Given the description of an element on the screen output the (x, y) to click on. 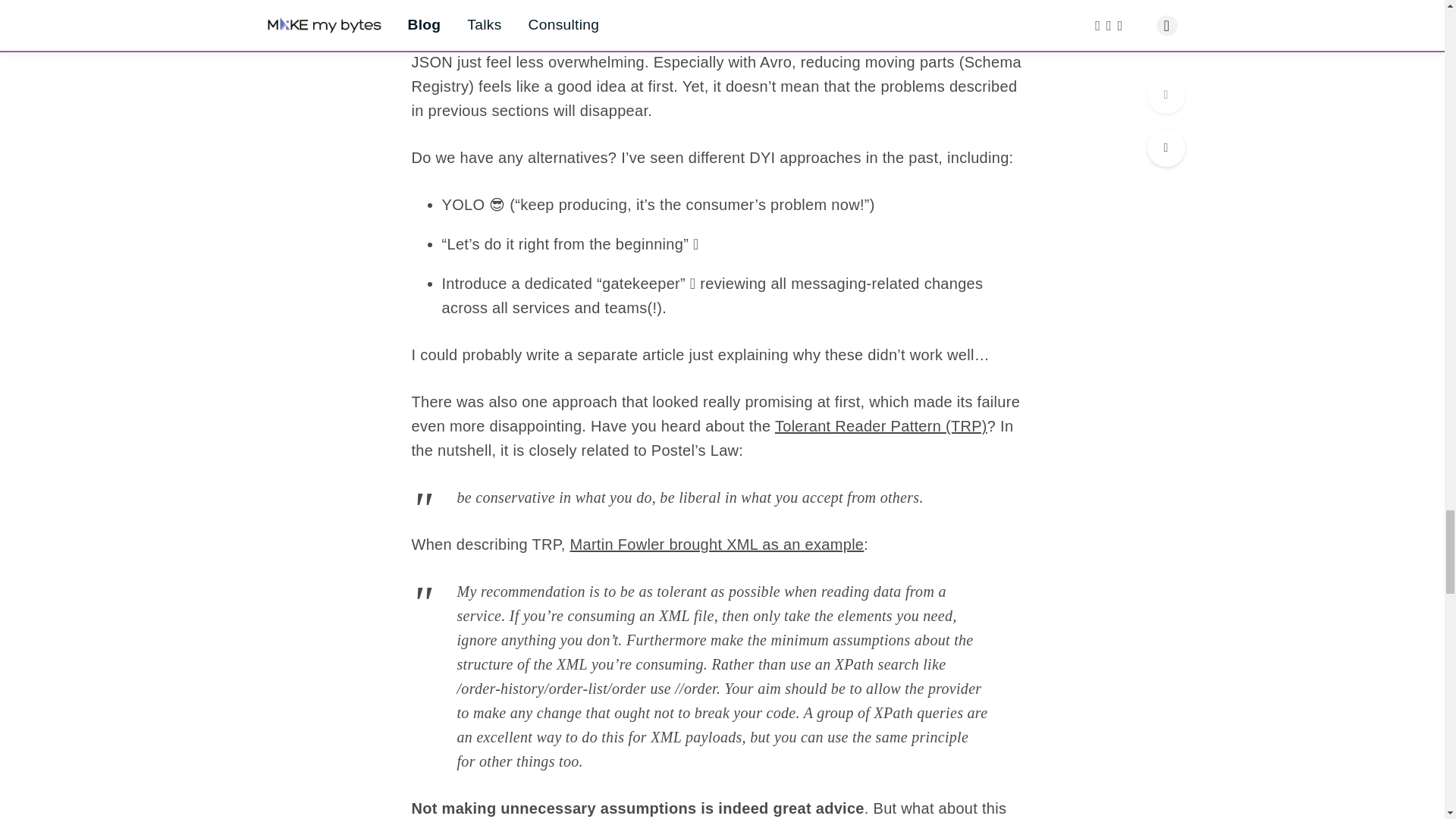
Martin Fowler brought XML as an example (717, 544)
